Given the description of an element on the screen output the (x, y) to click on. 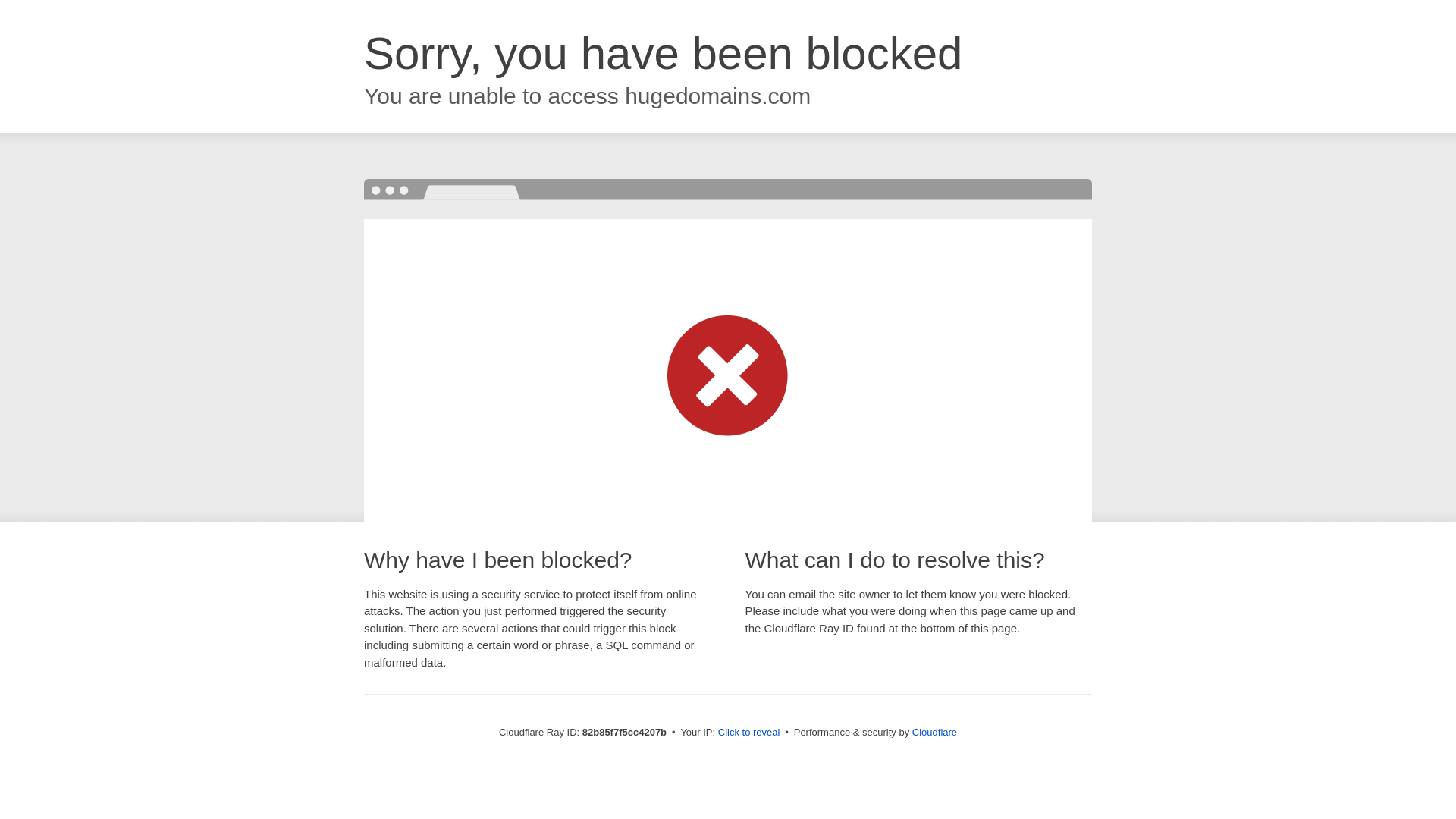
Click to reveal Element type: text (749, 732)
Cloudflare Element type: text (934, 731)
